Given the description of an element on the screen output the (x, y) to click on. 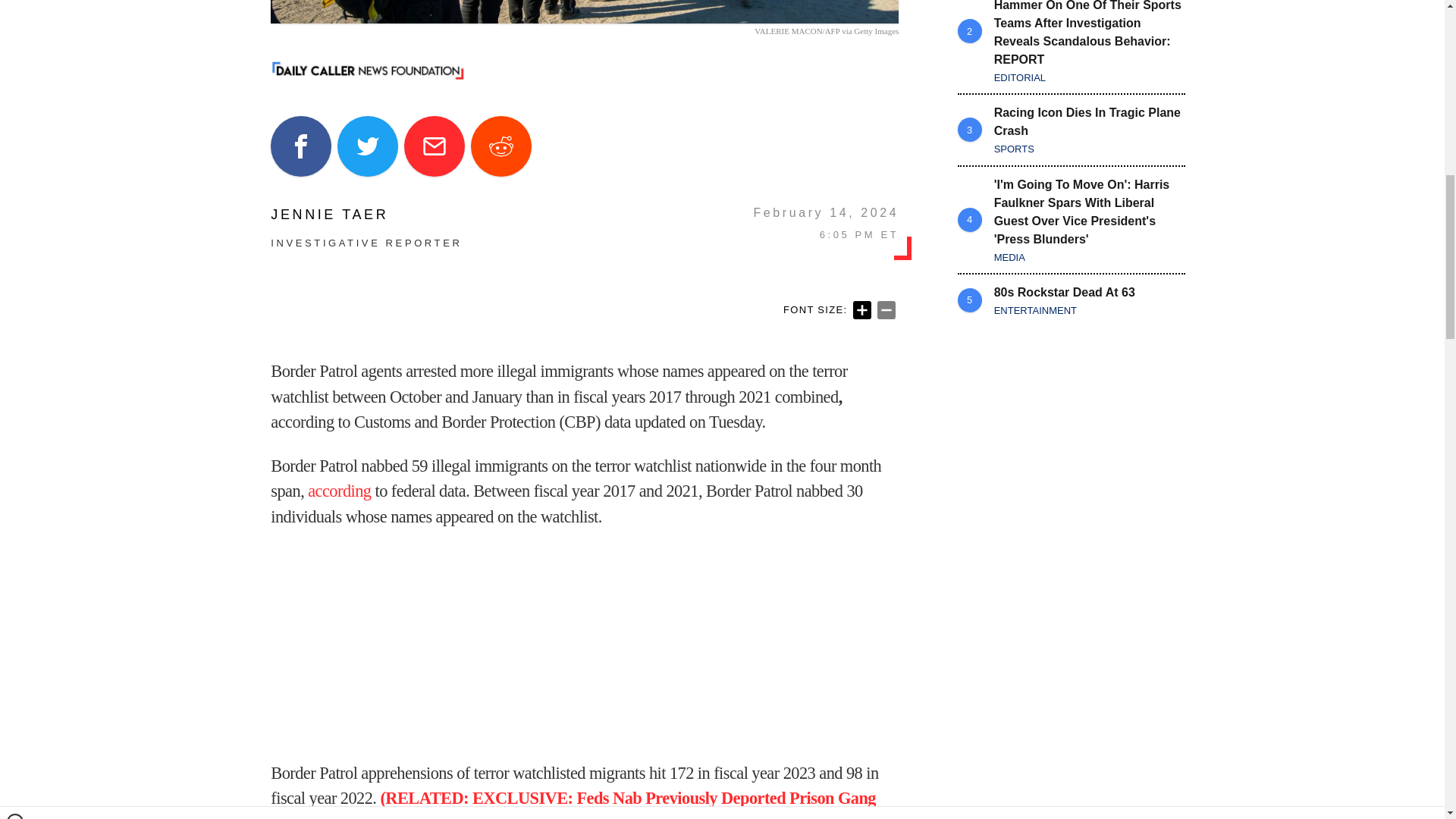
Close window (14, 6)
JENNIE TAER (365, 214)
View More Articles By Jennie Taer (365, 214)
US-MEXICO-MIGRATION-BORDER-JACUMBA (584, 11)
according (339, 490)
